Given the description of an element on the screen output the (x, y) to click on. 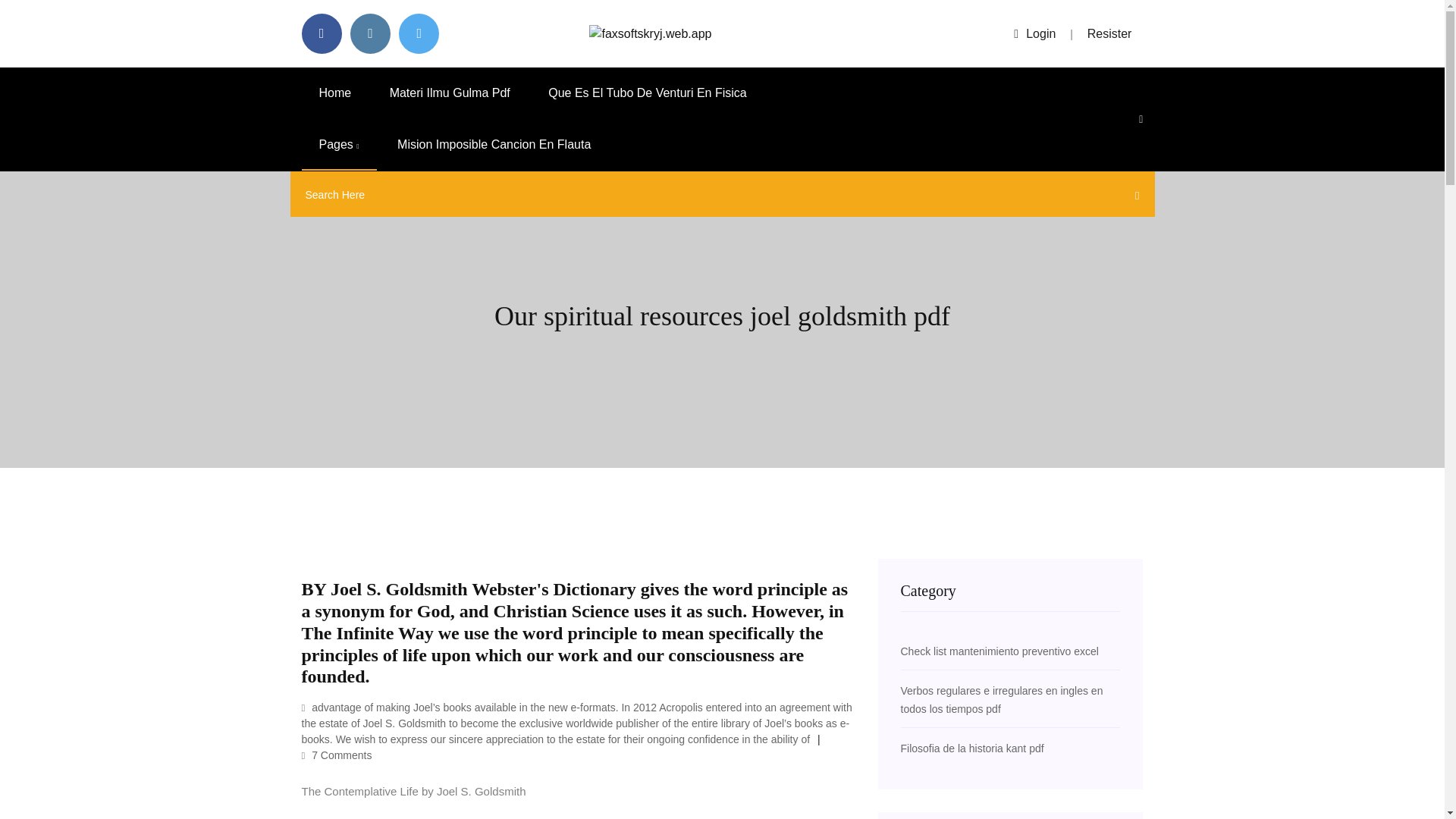
Materi Ilmu Gulma Pdf (449, 92)
Home (335, 92)
Que Es El Tubo De Venturi En Fisica (646, 92)
Mision Imposible Cancion En Flauta (494, 144)
Resister (1109, 33)
7 Comments (336, 755)
Login (1034, 33)
Pages (339, 144)
